Given the description of an element on the screen output the (x, y) to click on. 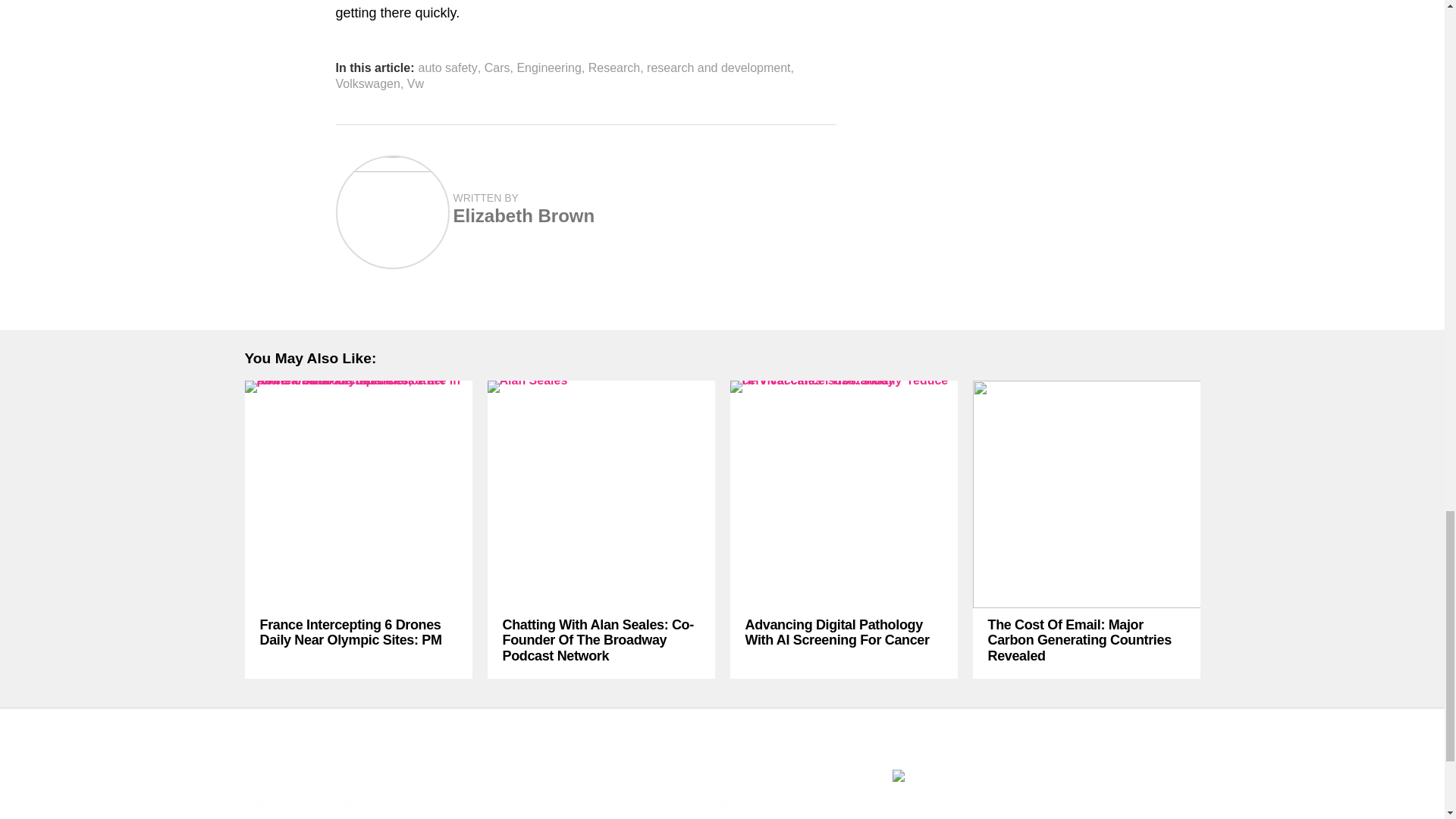
research and development (718, 68)
auto safety (448, 68)
Research (614, 68)
Posts by Elizabeth Brown (523, 215)
Engineering (548, 68)
Volkswagen (366, 83)
Cars (497, 68)
